Given the description of an element on the screen output the (x, y) to click on. 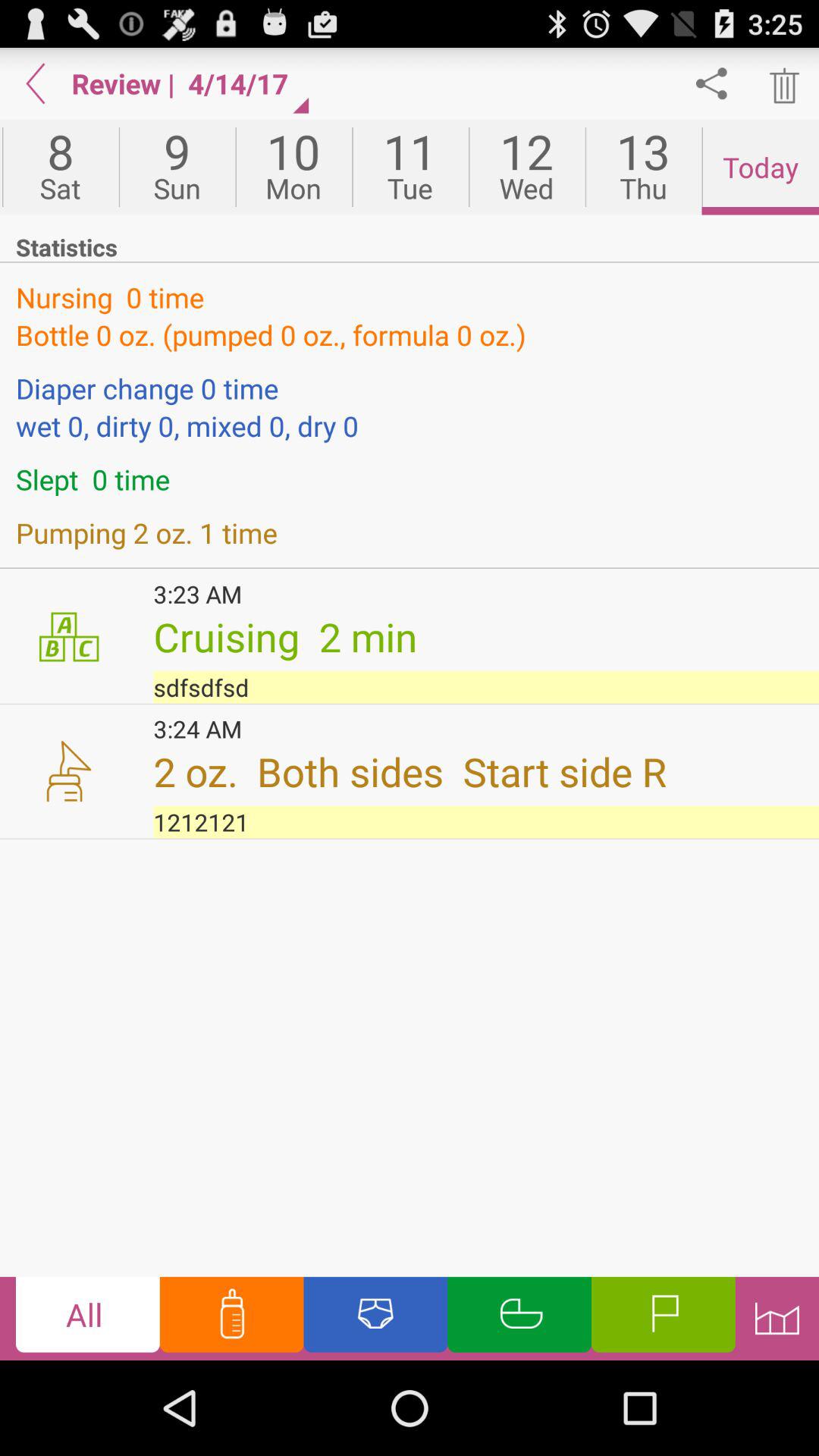
press icon next to 10 icon (410, 166)
